Given the description of an element on the screen output the (x, y) to click on. 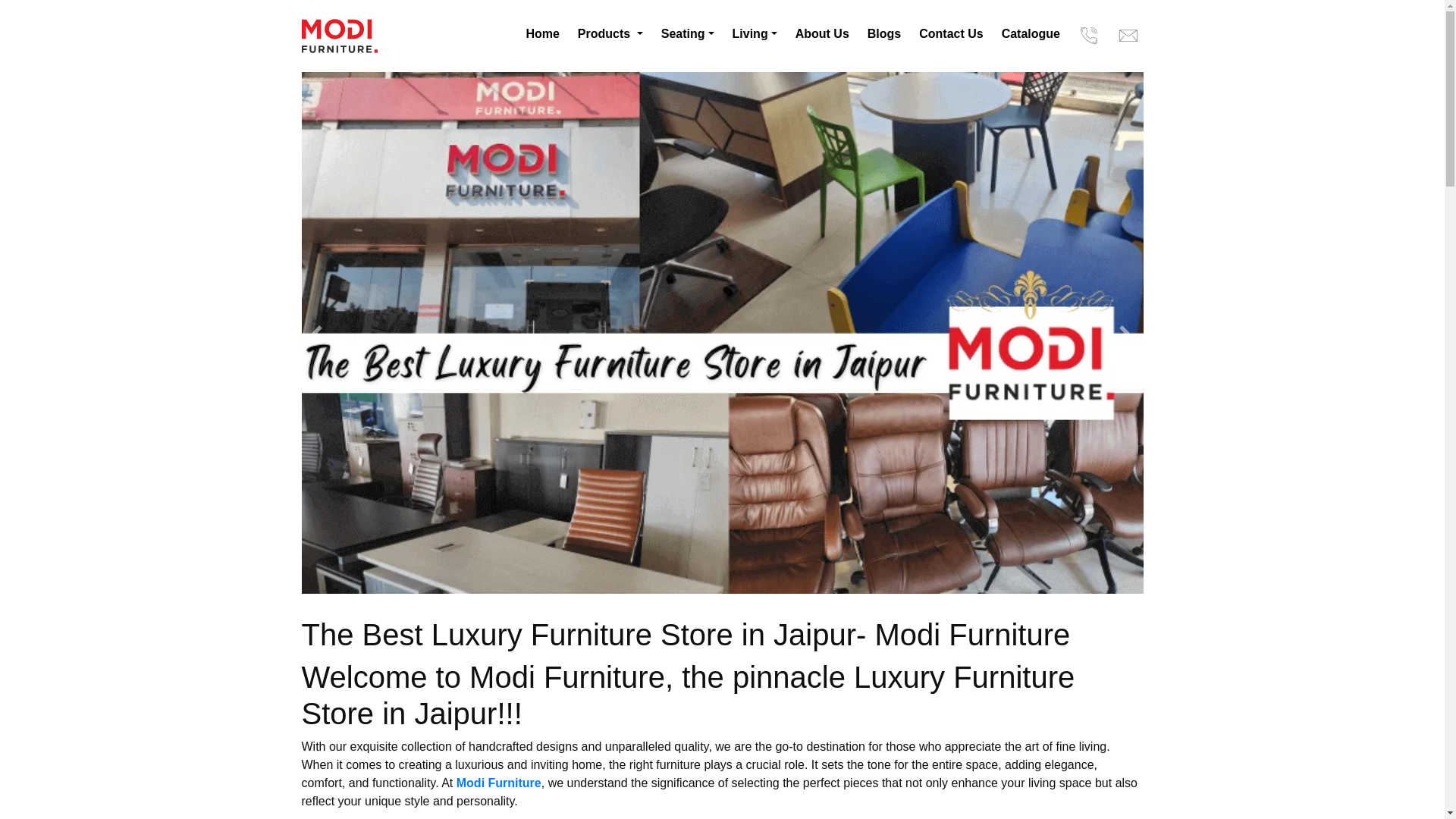
Seating (687, 33)
Living (753, 33)
Home (542, 33)
Products (609, 33)
